Given the description of an element on the screen output the (x, y) to click on. 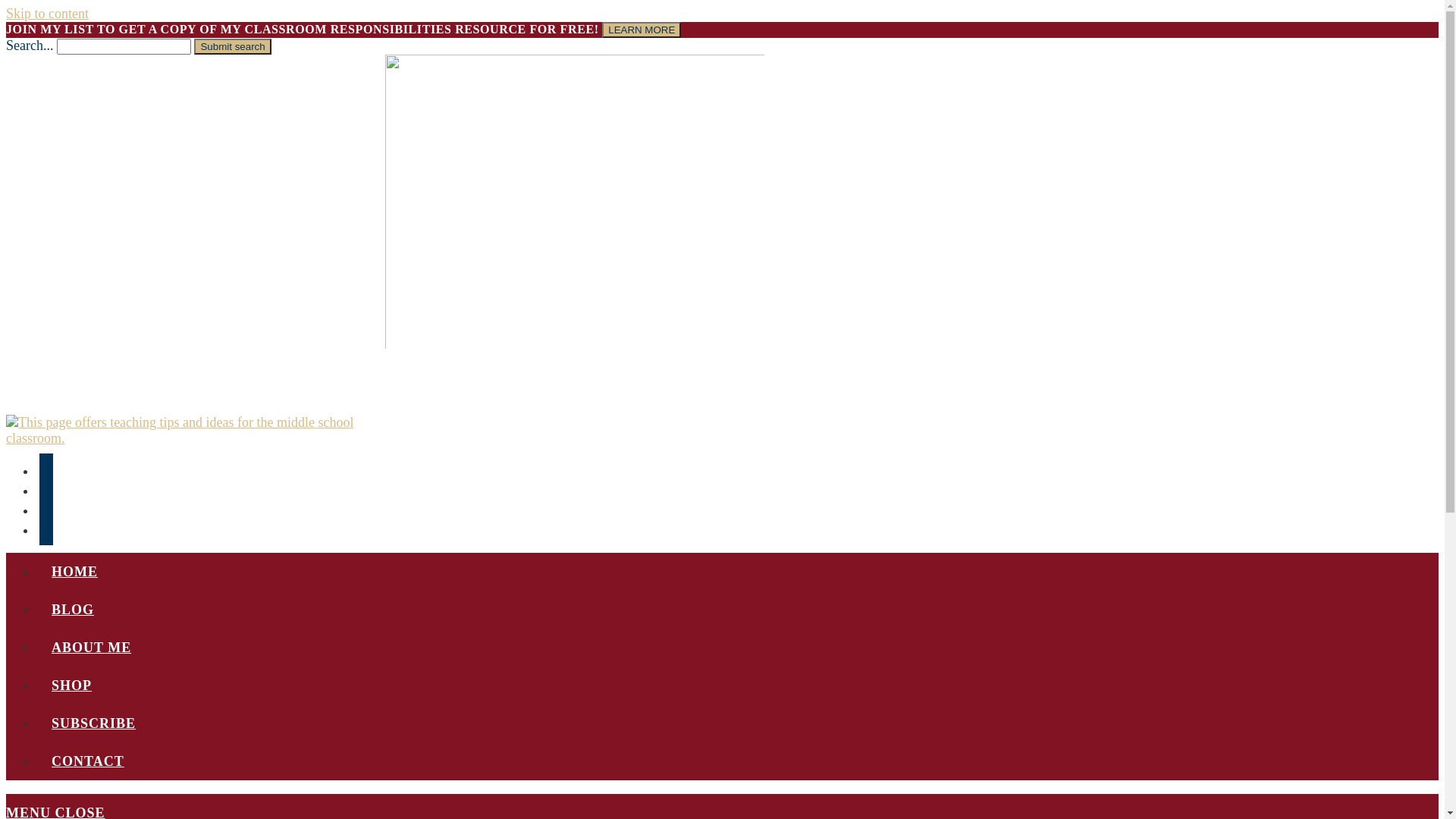
SUBSCRIBE Element type: text (93, 723)
ABOUT ME Element type: text (91, 647)
SHOP Element type: text (71, 685)
HOME Element type: text (74, 571)
Skip to content Element type: text (47, 13)
LEARN MORE Element type: text (641, 29)
LEARN MORE Element type: text (641, 28)
CONTACT Element type: text (87, 760)
Submit search Element type: text (232, 46)
BLOG Element type: text (72, 609)
